Given the description of an element on the screen output the (x, y) to click on. 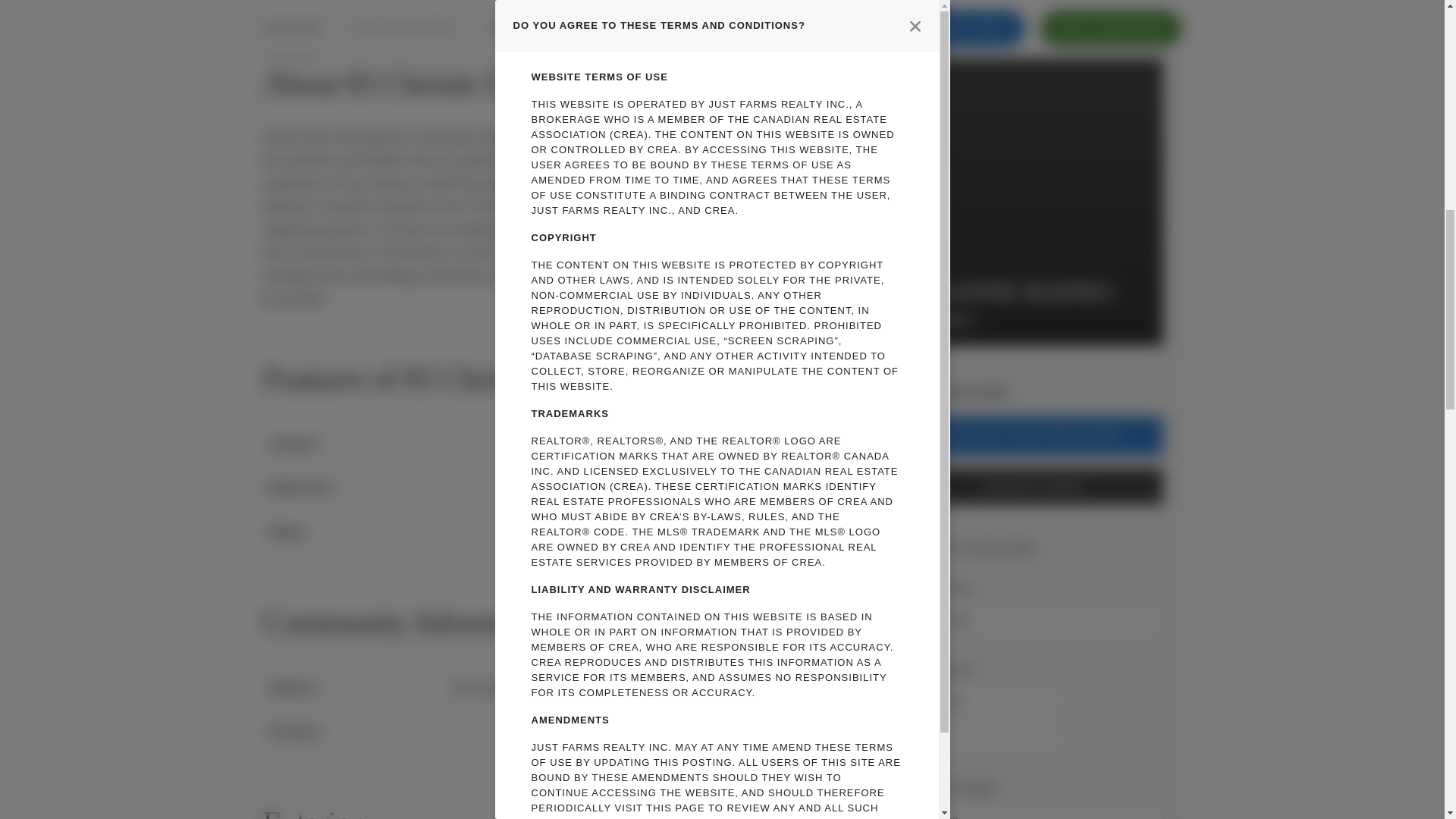
30 Years (1033, 810)
MOBILE ICON VIDEO TOUR FROM HOME (1033, 435)
REQUEST INFO (960, 2)
OVERVIEW (291, 7)
MOBILE ICON (953, 436)
REQUEST SHOWING (539, 7)
519-670-2660 (969, 391)
ASK A QUESTION (1110, 2)
CONTACT AGENT (1033, 486)
